Given the description of an element on the screen output the (x, y) to click on. 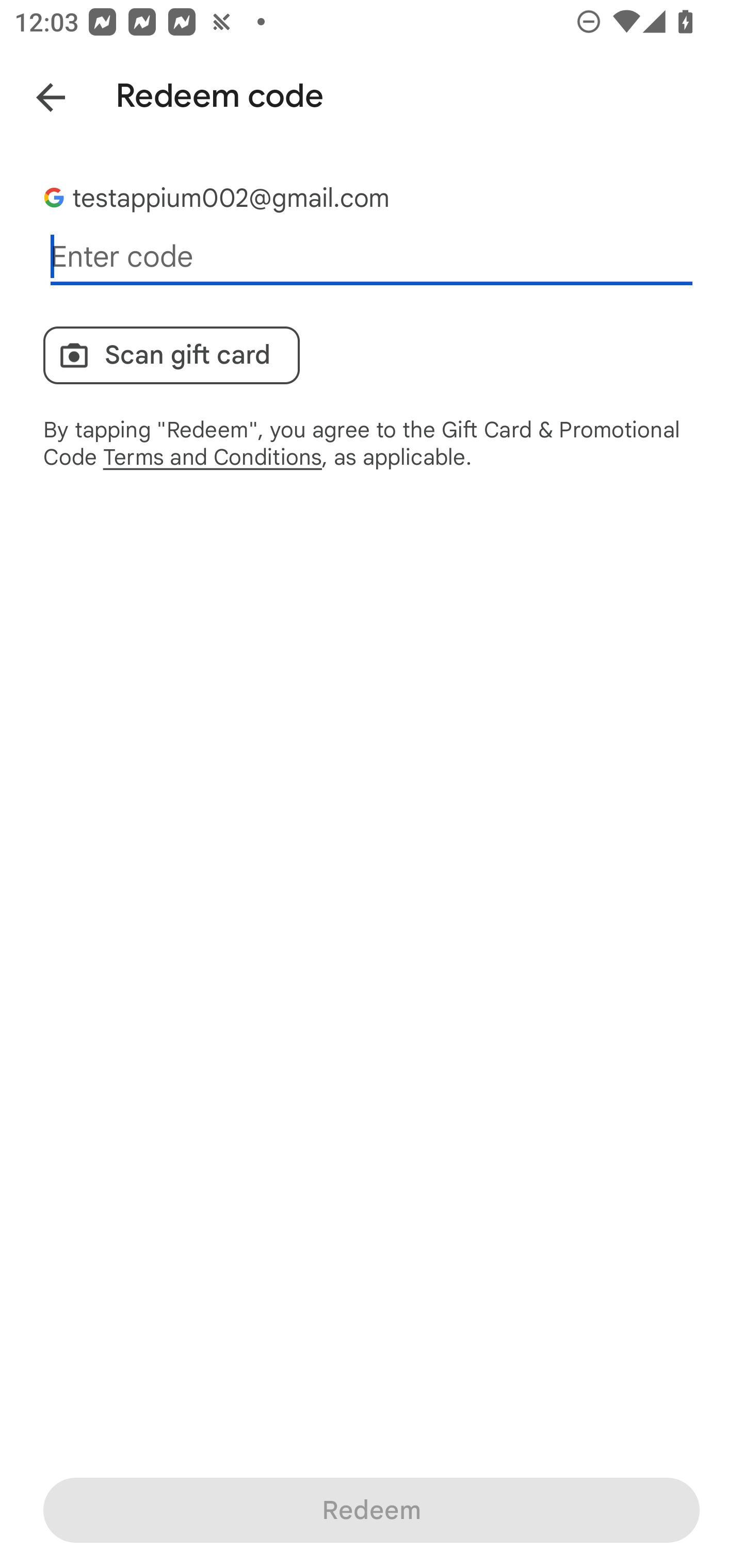
Back (36, 94)
Enter code (371, 256)
Scan gift card (171, 355)
